Given the description of an element on the screen output the (x, y) to click on. 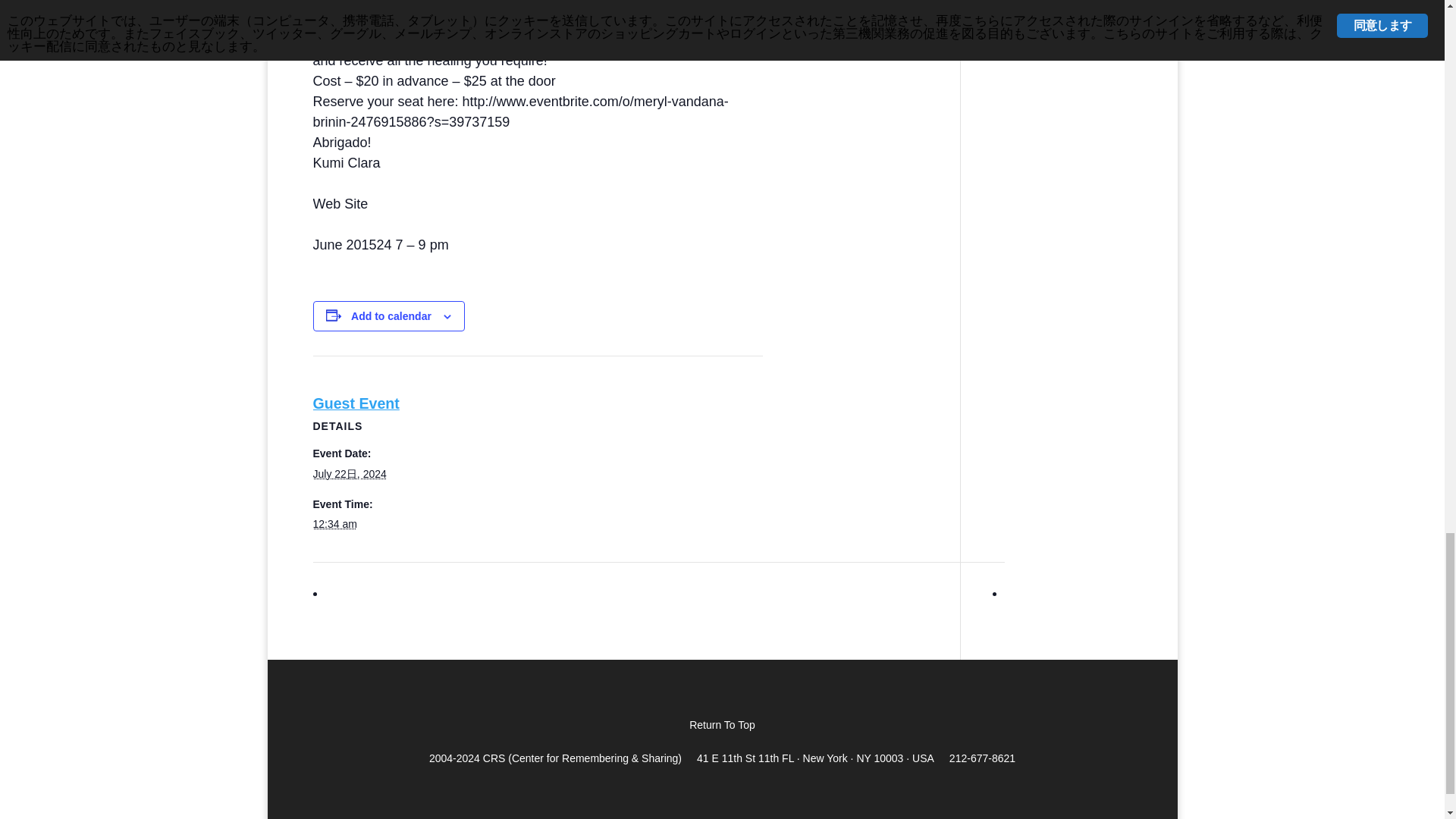
2024-07-22 (334, 523)
2024-07-22 (349, 473)
Guest Event (355, 402)
Add to calendar (390, 316)
